Given the description of an element on the screen output the (x, y) to click on. 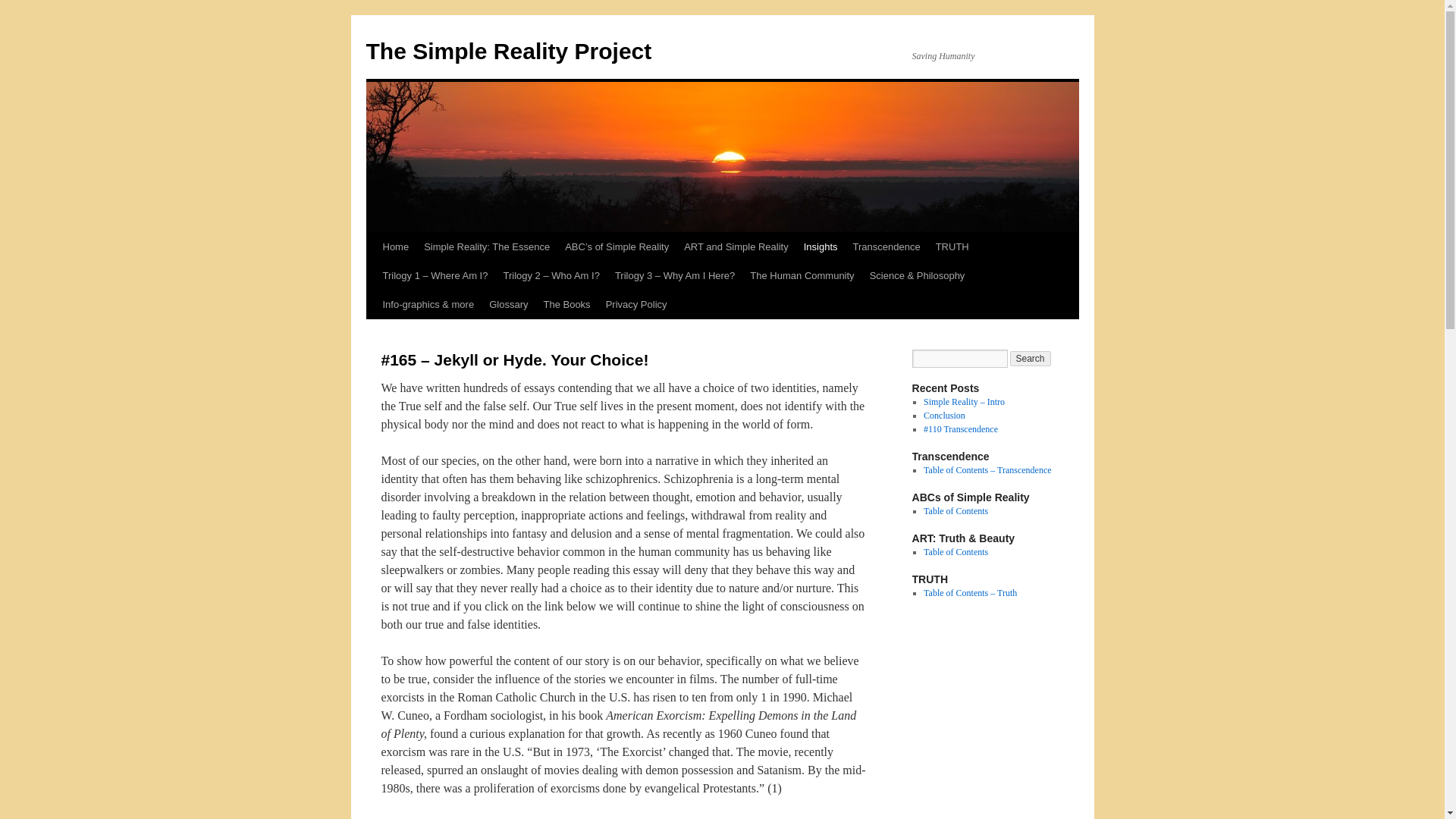
Simple Reality: The Essence (486, 246)
ART and Simple Reality (736, 246)
The Simple Reality Project (507, 50)
Home (395, 246)
Search (1030, 358)
